Given the description of an element on the screen output the (x, y) to click on. 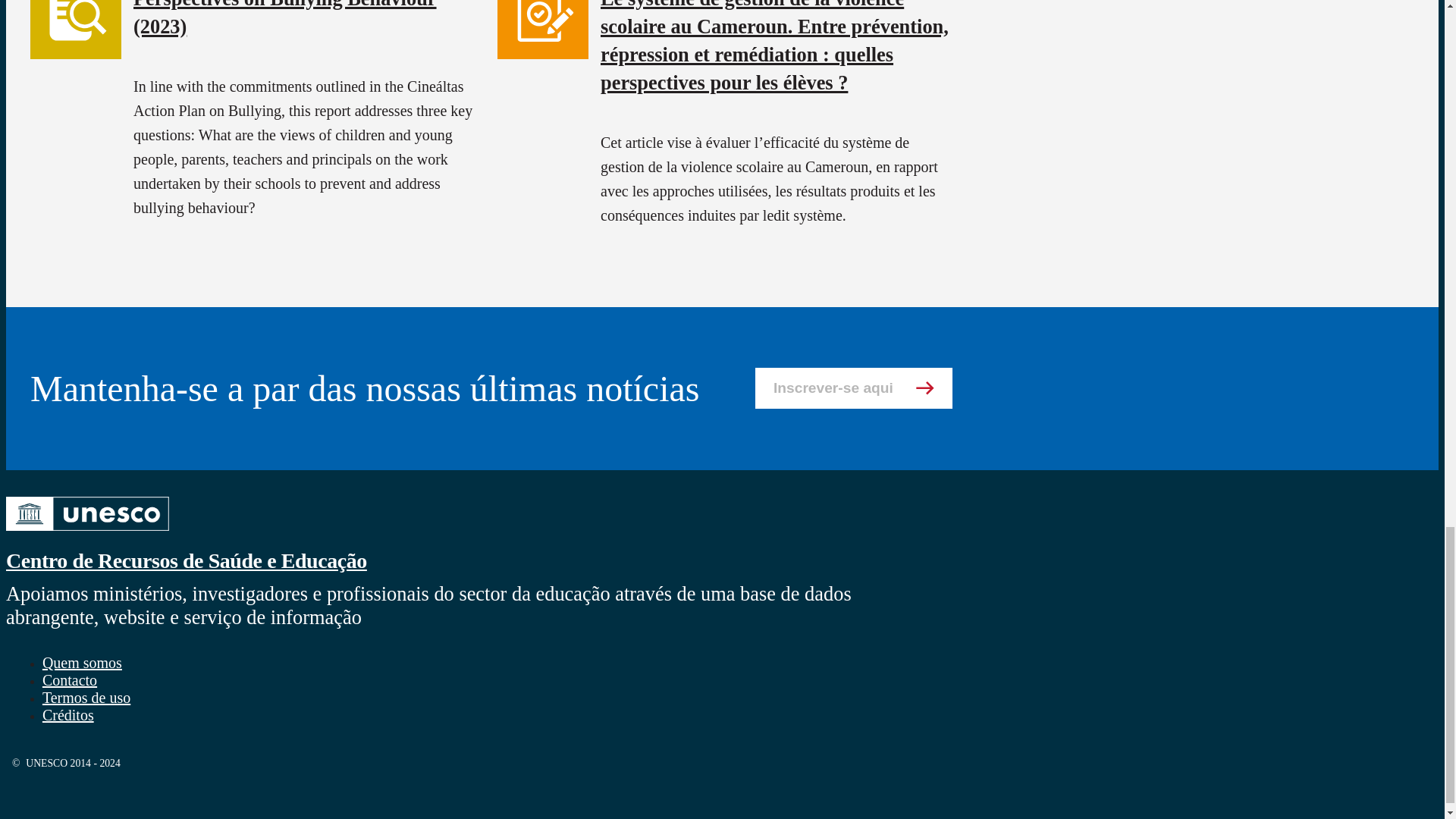
Home (185, 560)
Home (86, 532)
